Given the description of an element on the screen output the (x, y) to click on. 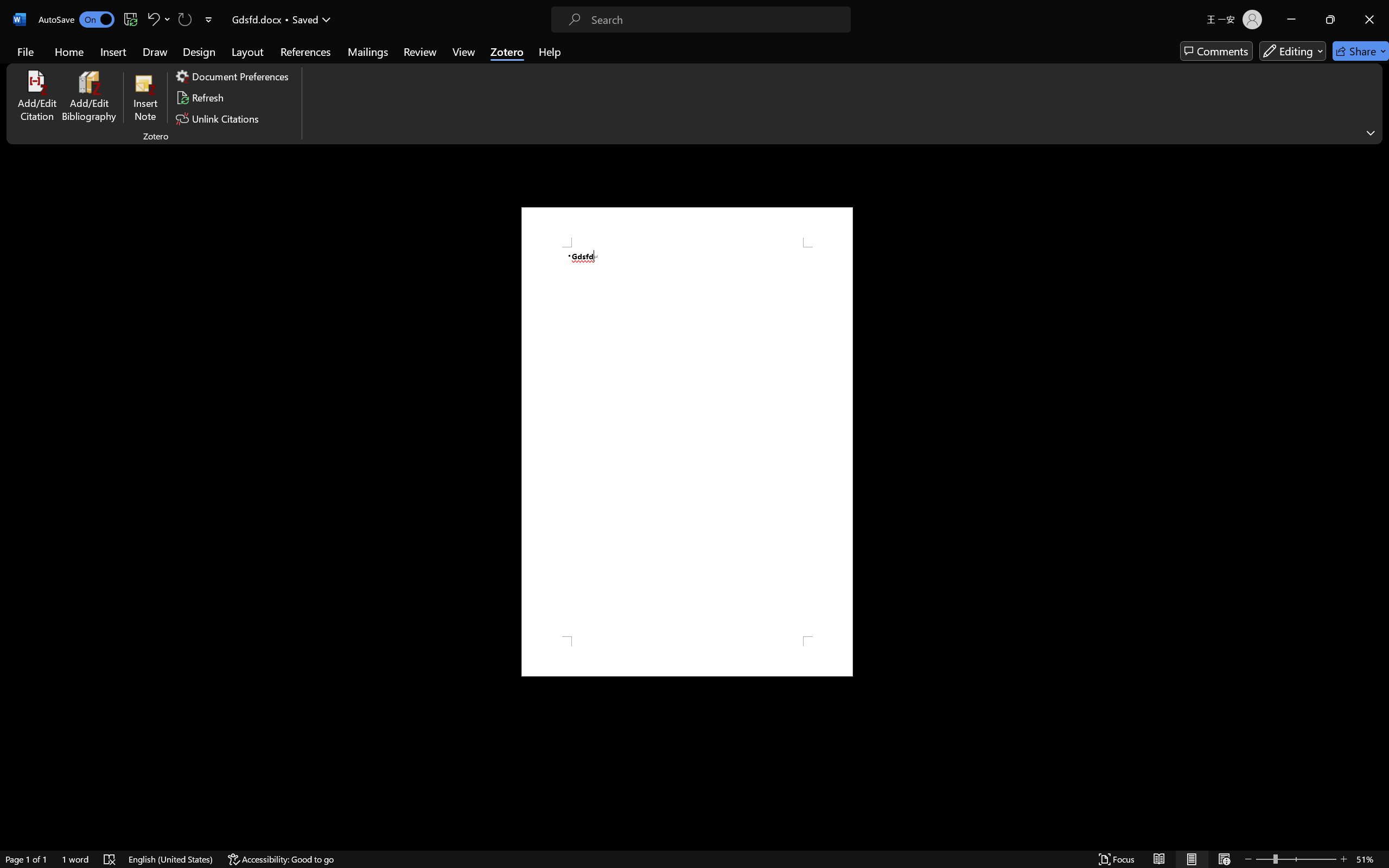
Page 1 content (686, 441)
